Given the description of an element on the screen output the (x, y) to click on. 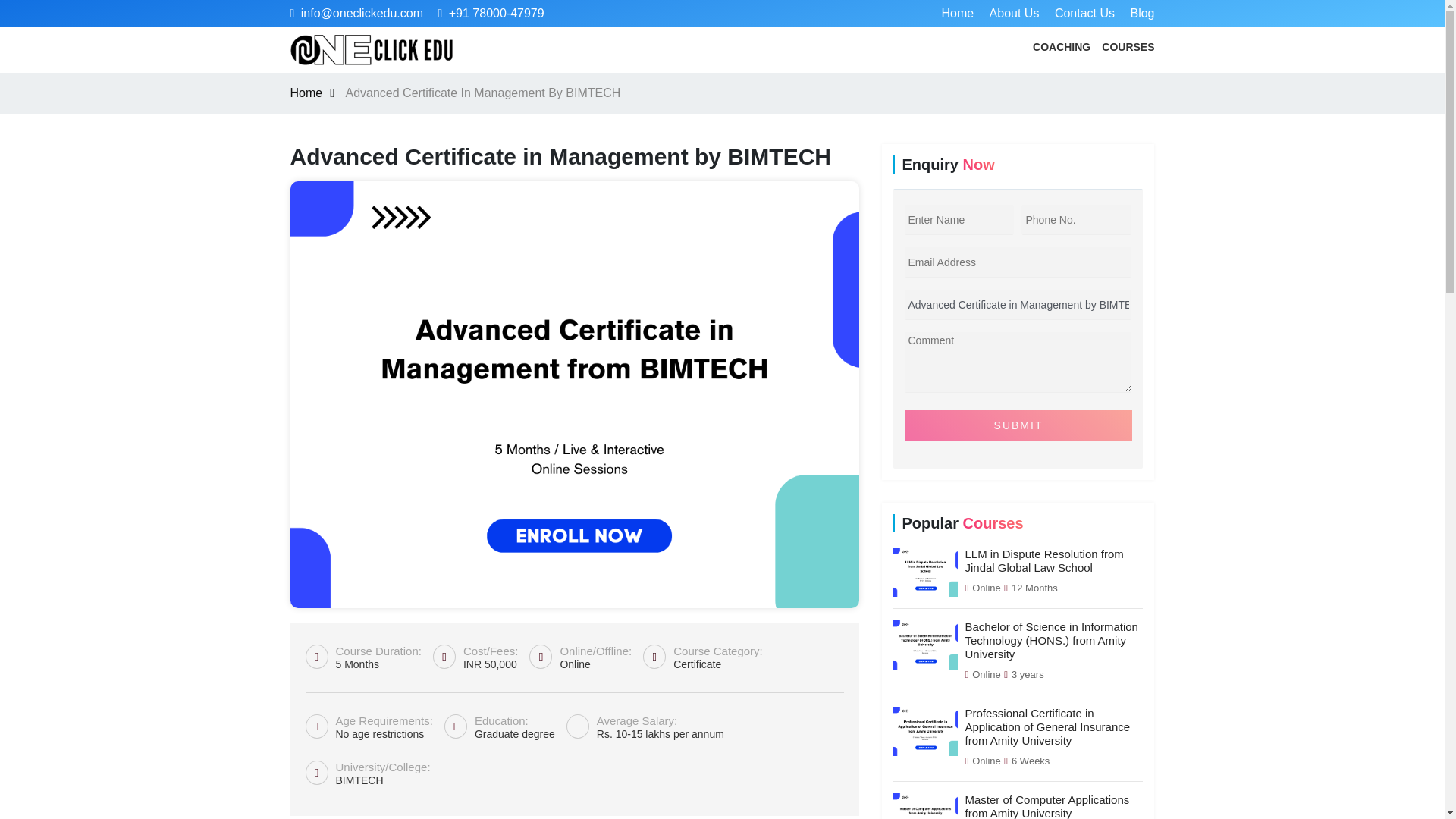
Home (315, 92)
Advanced Certificate In Management By BIMTECH (482, 92)
Master of Computer Applications from Amity University (1046, 806)
Home (957, 12)
COACHING (1061, 47)
Blog (1141, 12)
SUBMIT (1017, 425)
Advanced Certificate in Management by BIMTECH (1017, 304)
LLM in Dispute Resolution from Jindal Global Law School (1042, 560)
